Given the description of an element on the screen output the (x, y) to click on. 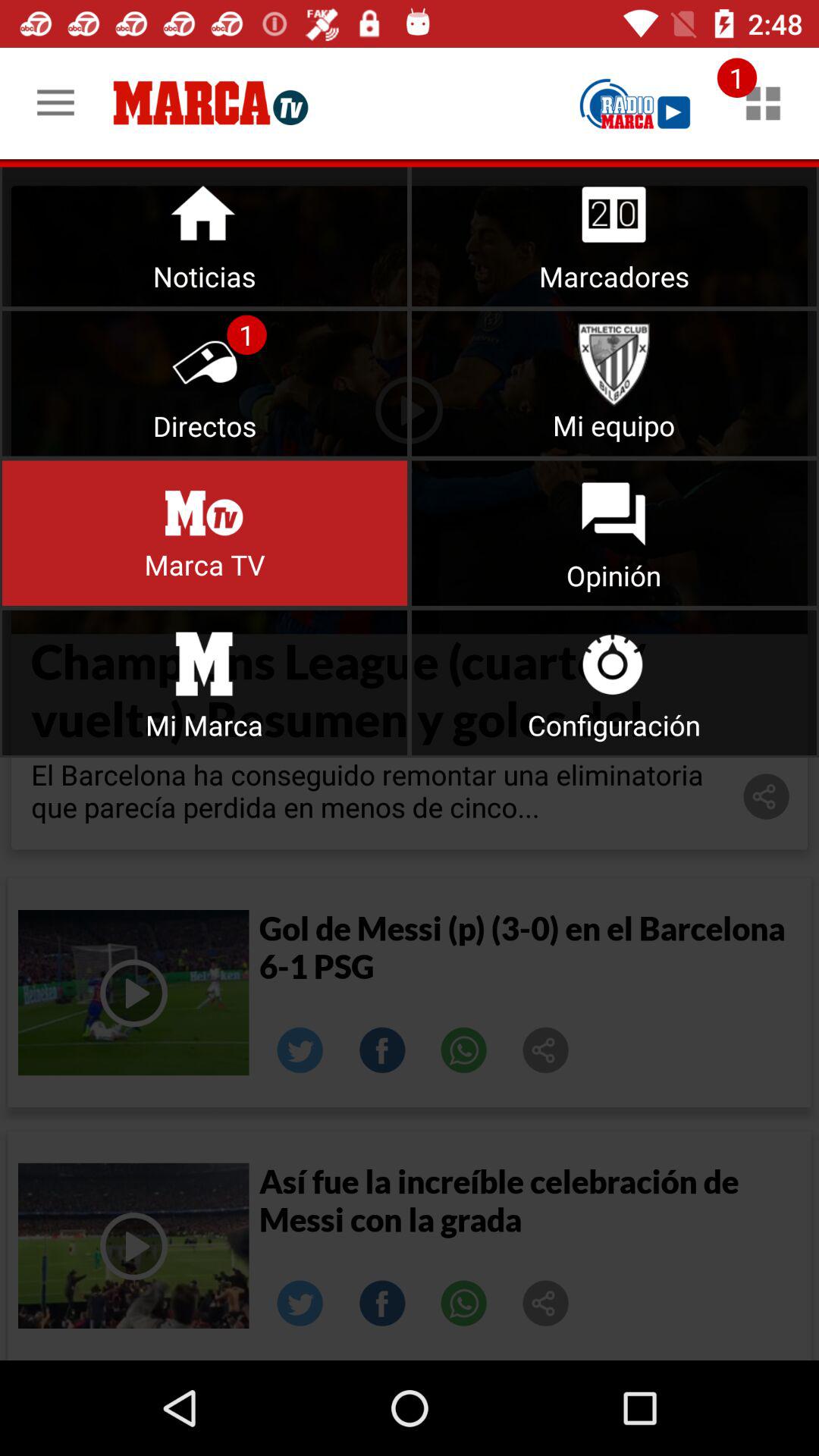
play the article (133, 1245)
